Given the description of an element on the screen output the (x, y) to click on. 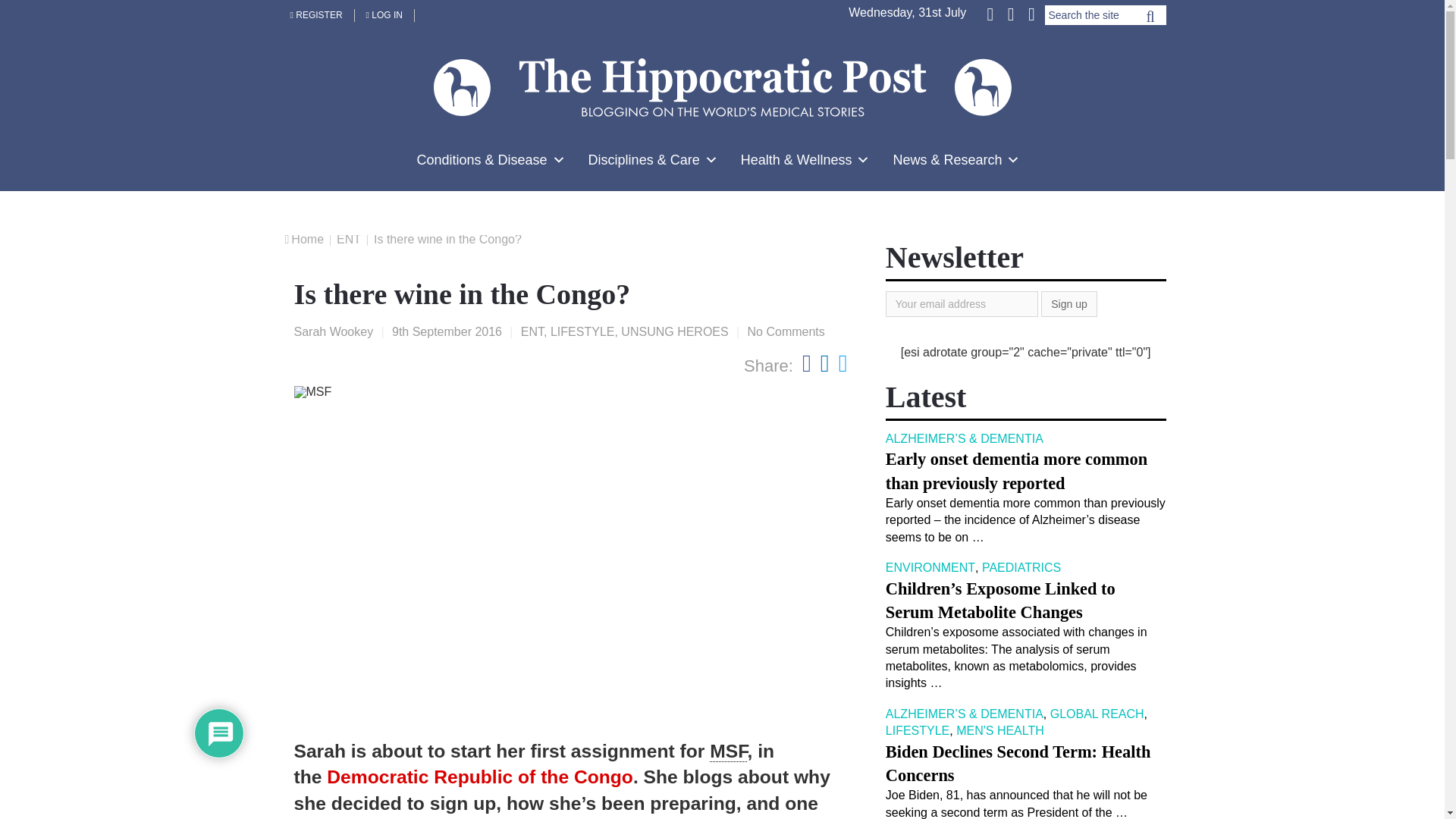
Follow The Hippocratic Post on LinkedIn (1030, 13)
Follow The Hippocratic Post on Twitter (1010, 13)
View all posts in ENT (532, 331)
View all posts in Lifestyle (582, 331)
Sign up (1068, 303)
Like The Hippocratic Post on Facebook (991, 13)
search (1150, 20)
LOG IN (384, 15)
REGISTER (317, 15)
Posts by Sarah Wookey (334, 331)
View all posts in Unsung Heroes (674, 331)
search (1150, 20)
